Given the description of an element on the screen output the (x, y) to click on. 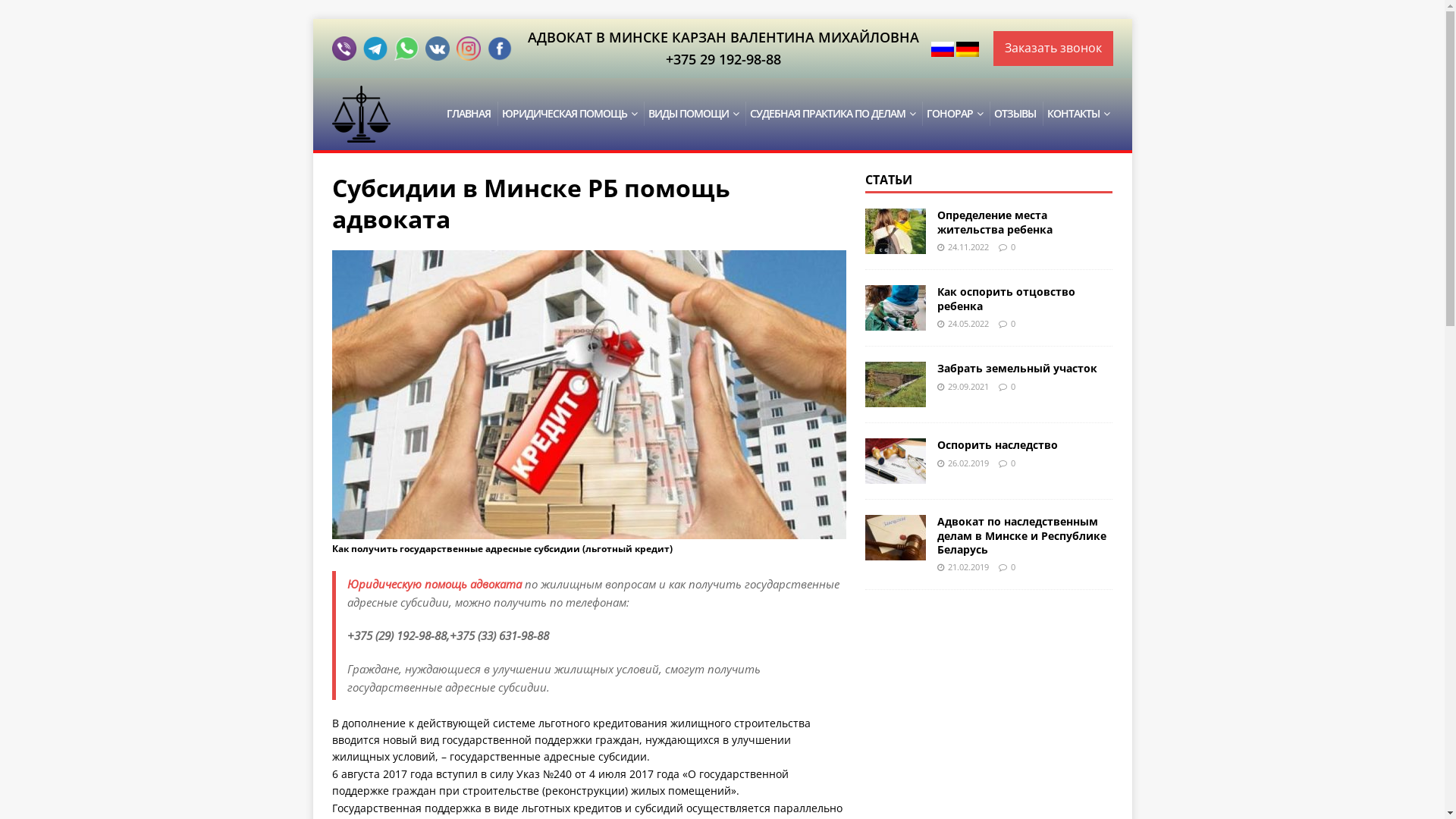
+375 29 192-98-88 Element type: text (723, 59)
0 Element type: text (1012, 323)
0 Element type: text (1012, 462)
0 Element type: text (1012, 246)
0 Element type: text (1012, 386)
0 Element type: text (1012, 566)
